Given the description of an element on the screen output the (x, y) to click on. 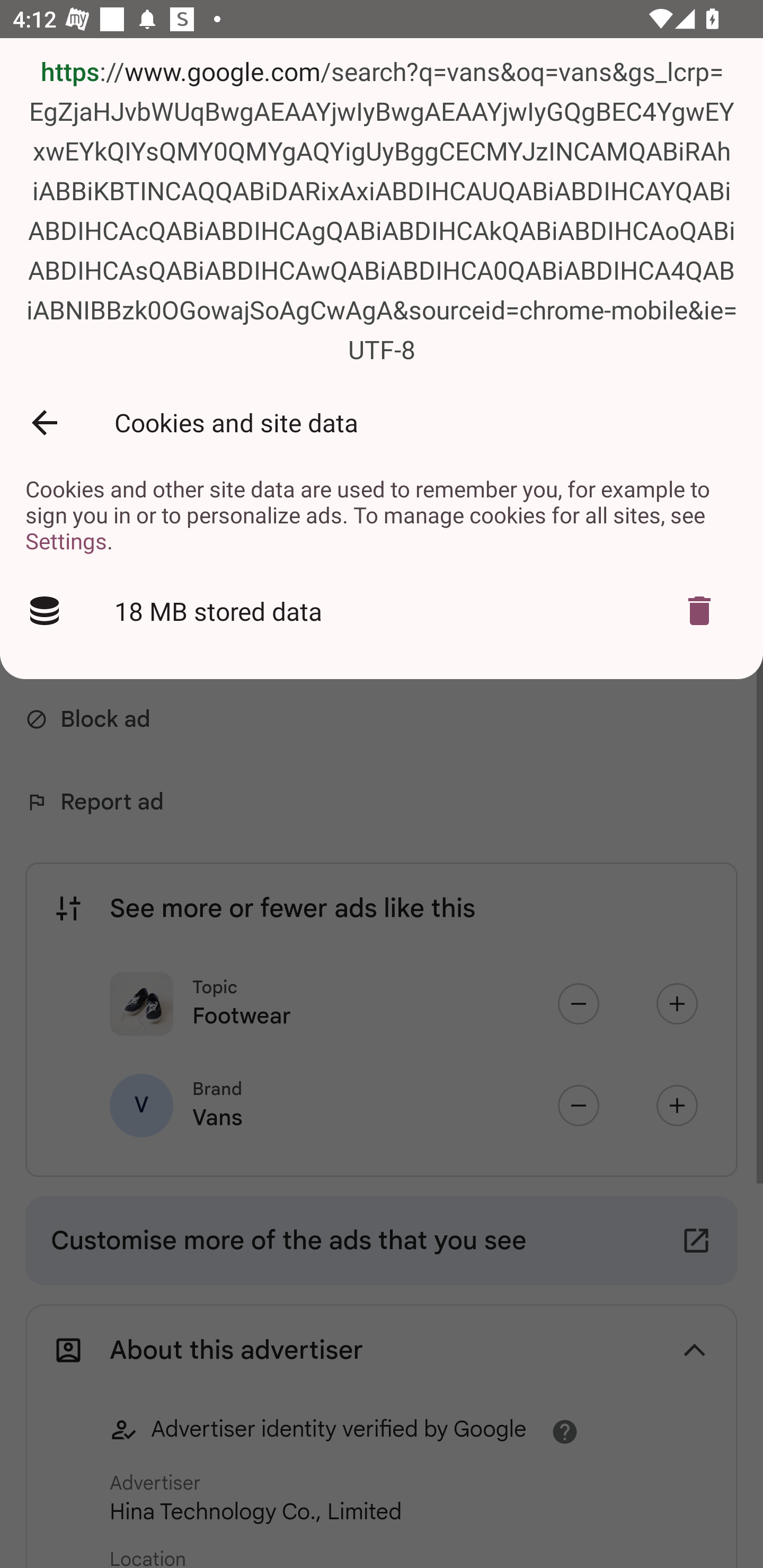
Back (44, 422)
18 MB stored data Delete cookies? (381, 610)
